Given the description of an element on the screen output the (x, y) to click on. 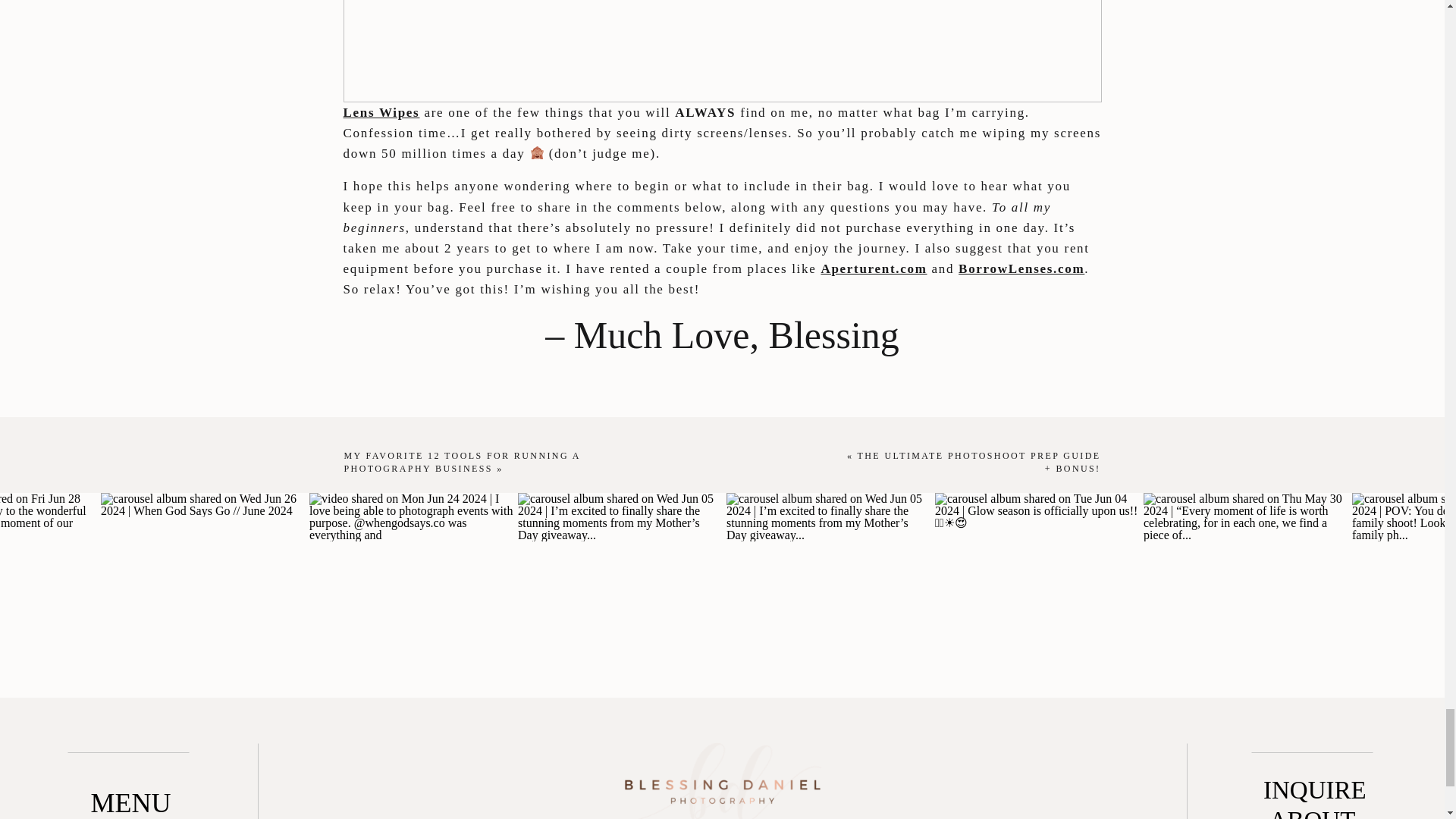
MY FAVORITE 12 TOOLS FOR RUNNING A PHOTOGRAPHY BUSINESS (461, 462)
BorrowLenses.com (1021, 268)
Lens Wipes (380, 112)
Aperturent.com (873, 268)
